Given the description of an element on the screen output the (x, y) to click on. 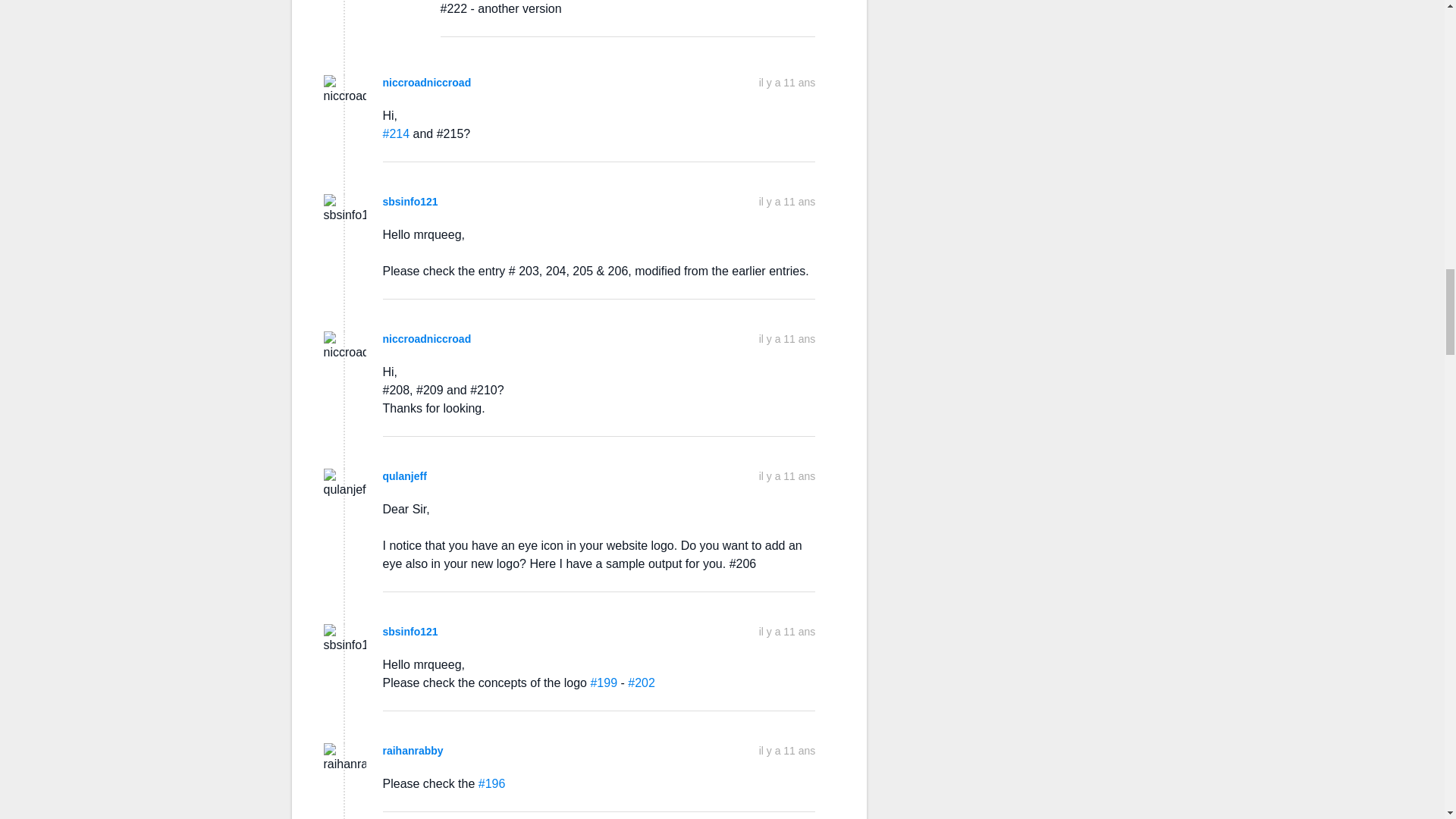
sbsinfo121 (409, 201)
qulanjeff (403, 476)
sbsinfo121 (409, 631)
niccroadniccroad (425, 338)
niccroadniccroad (425, 82)
raihanrabby (411, 750)
